Given the description of an element on the screen output the (x, y) to click on. 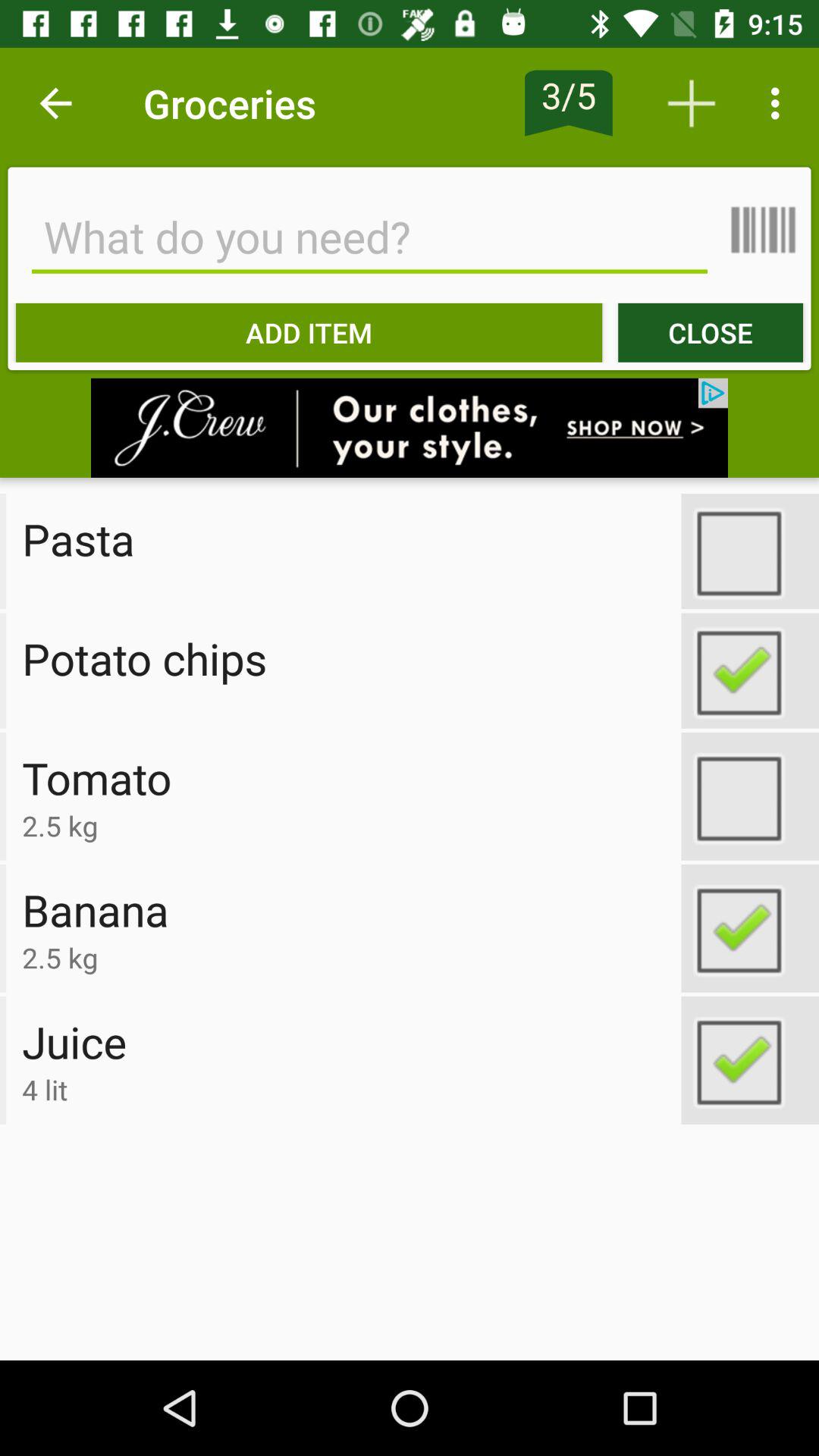
groceries mark button (750, 928)
